Given the description of an element on the screen output the (x, y) to click on. 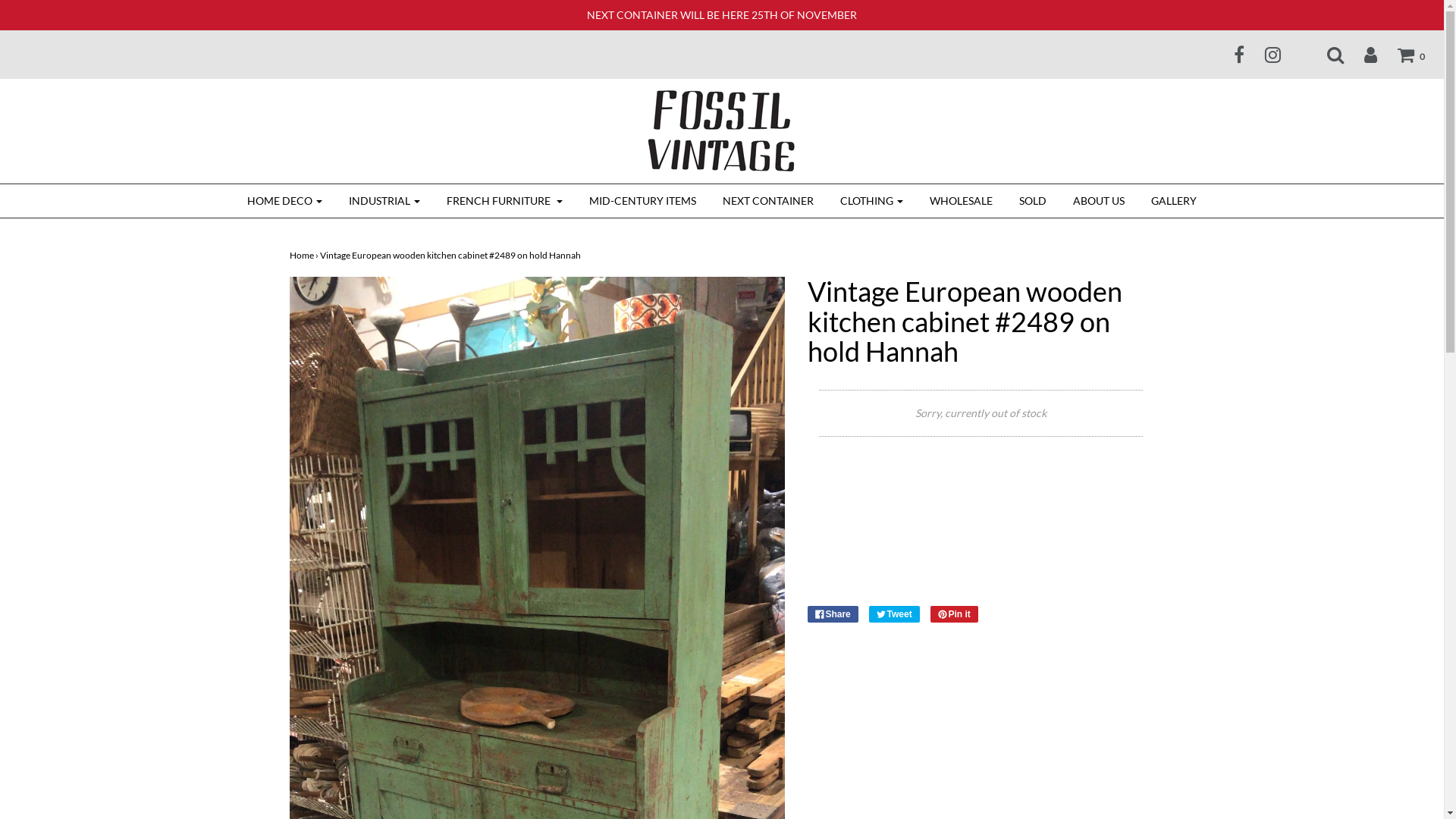
Pin it Element type: text (954, 613)
NEXT CONTAINER WILL BE HERE 25TH OF NOVEMBER Element type: text (721, 14)
WHOLESALE Element type: text (961, 200)
SOLD Element type: text (1032, 200)
Share Element type: text (831, 613)
NEXT CONTAINER Element type: text (768, 200)
Home Element type: text (301, 254)
HOME DECO Element type: text (284, 200)
Log in Element type: hover (1361, 54)
MID-CENTURY ITEMS Element type: text (642, 200)
GALLERY Element type: text (1173, 200)
Tweet Element type: text (894, 613)
Search Element type: hover (1325, 54)
FRENCH FURNITURE Element type: text (504, 200)
ABOUT US Element type: text (1098, 200)
INDUSTRIAL Element type: text (384, 200)
0 Element type: text (1401, 54)
CLOTHING Element type: text (871, 200)
